Given the description of an element on the screen output the (x, y) to click on. 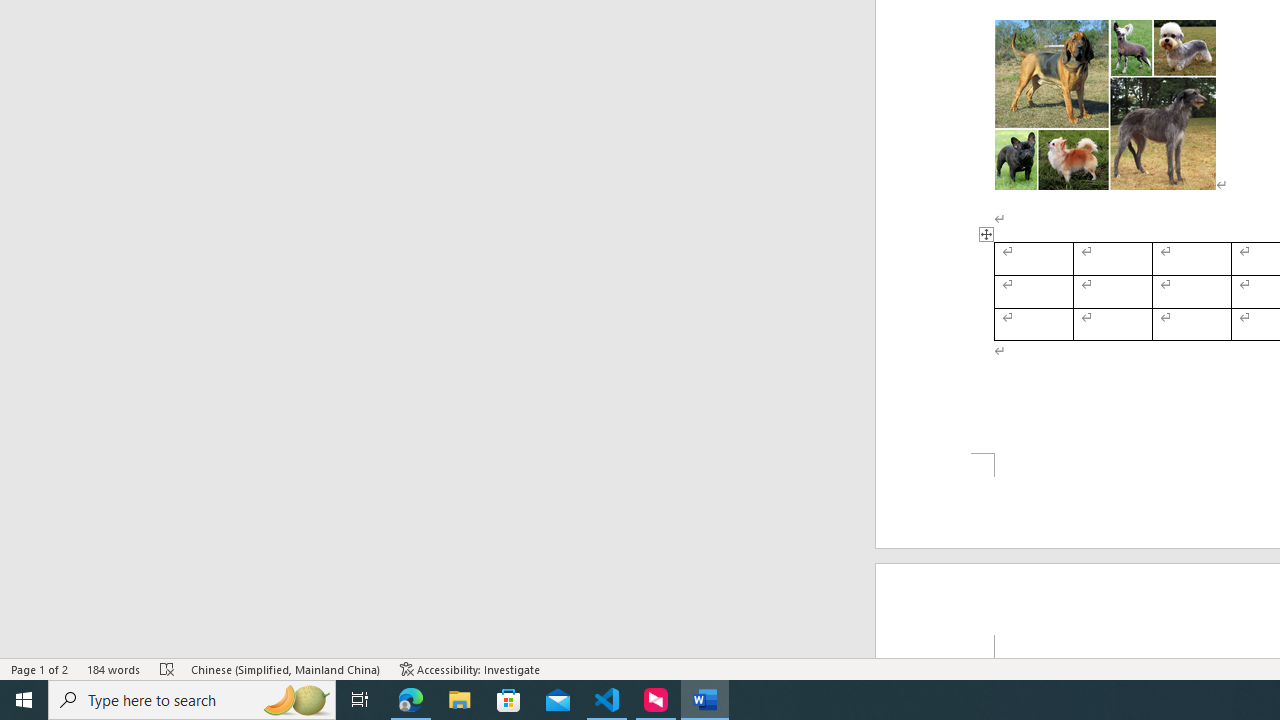
Word - 1 running window (704, 699)
Task View (359, 699)
Word Count 184 words (113, 668)
Start (24, 699)
File Explorer (460, 699)
Morphological variation in six dogs (1105, 105)
Microsoft Store (509, 699)
Page Number Page 1 of 2 (39, 668)
Language Chinese (Simplified, Mainland China) (286, 668)
Search highlights icon opens search home window (295, 699)
Accessibility Checker Accessibility: Investigate (470, 668)
Spelling and Grammar Check Errors (168, 668)
